Given the description of an element on the screen output the (x, y) to click on. 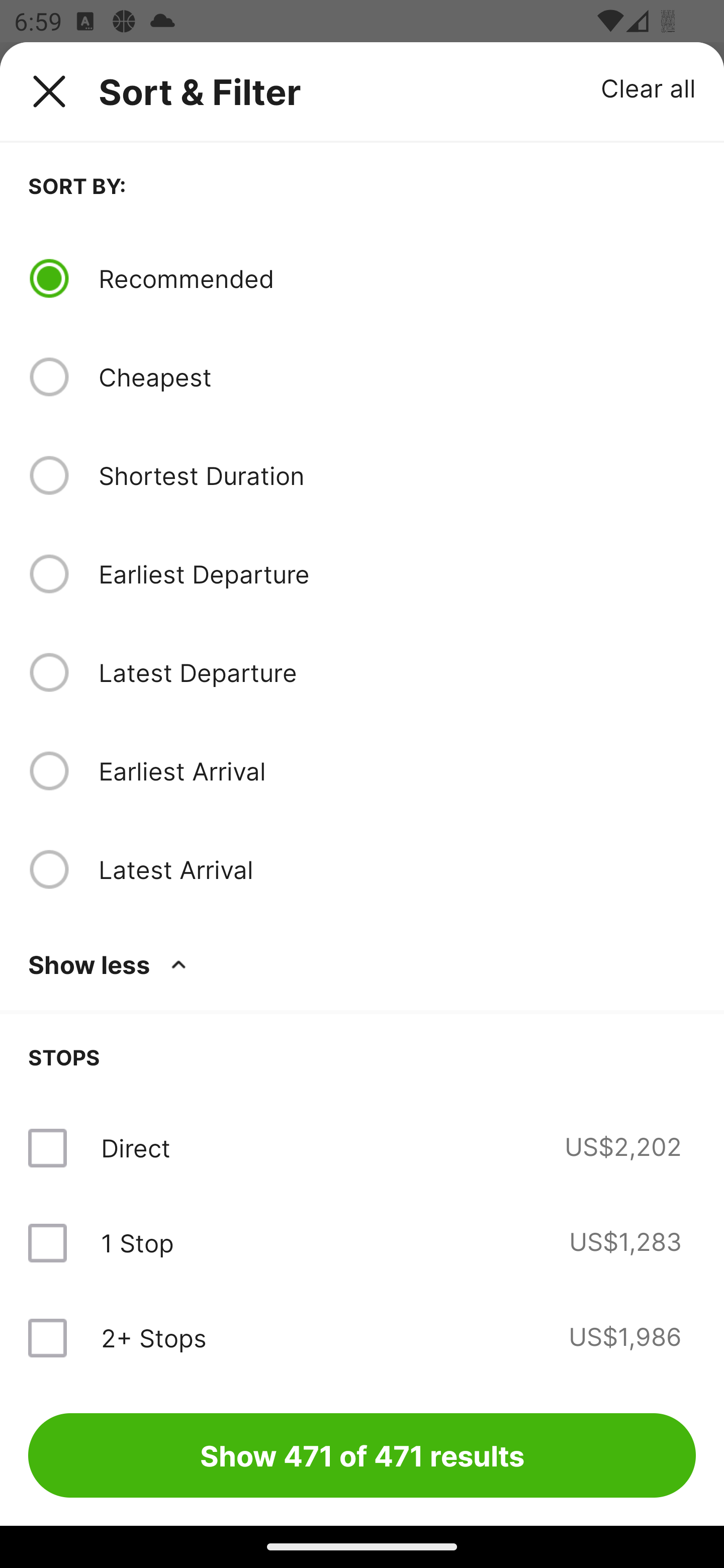
Clear all (648, 87)
Recommended  (396, 278)
Cheapest (396, 377)
Shortest Duration (396, 474)
Earliest Departure (396, 573)
Latest Departure (396, 672)
Earliest Arrival (396, 770)
Latest Arrival (396, 869)
Show less (110, 964)
Direct US$2,202 (362, 1147)
Direct (135, 1147)
1 Stop US$1,283 (362, 1242)
1 Stop (136, 1242)
2+ Stops US$1,986 (362, 1337)
2+ Stops (153, 1337)
Show 471 of 471 results (361, 1454)
